Given the description of an element on the screen output the (x, y) to click on. 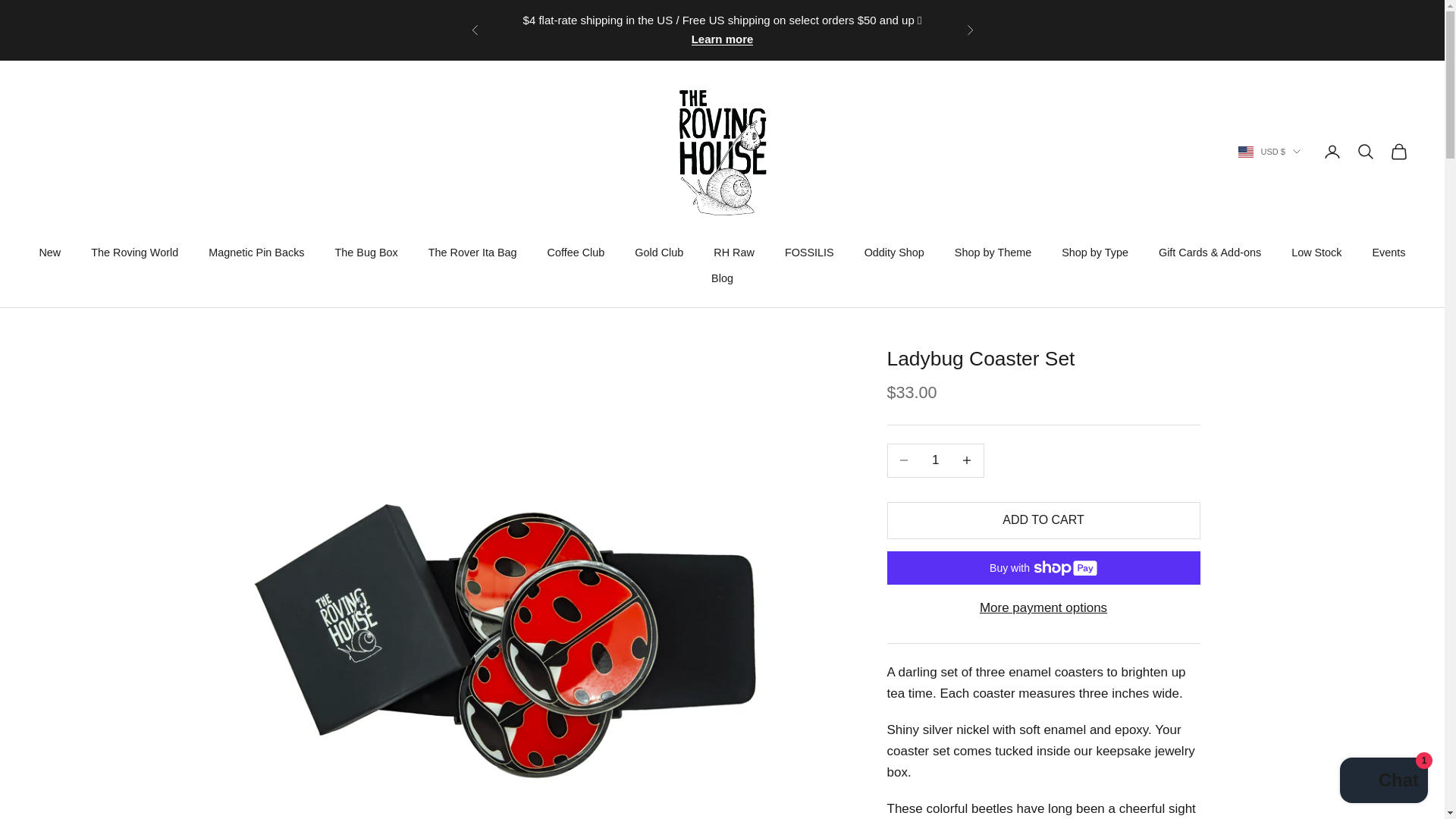
The Roving World (133, 252)
RH Raw (733, 252)
Shopify online store chat (1383, 781)
Blog (722, 278)
Learn more (722, 38)
Magnetic Pin Backs (256, 252)
The Rover Ita Bag (472, 252)
Shipping Policy (722, 38)
The Bug Box (365, 252)
New (50, 252)
Events (1389, 252)
Oddity Shop (894, 252)
Low Stock (1315, 252)
1 (935, 459)
Gold Club (658, 252)
